Given the description of an element on the screen output the (x, y) to click on. 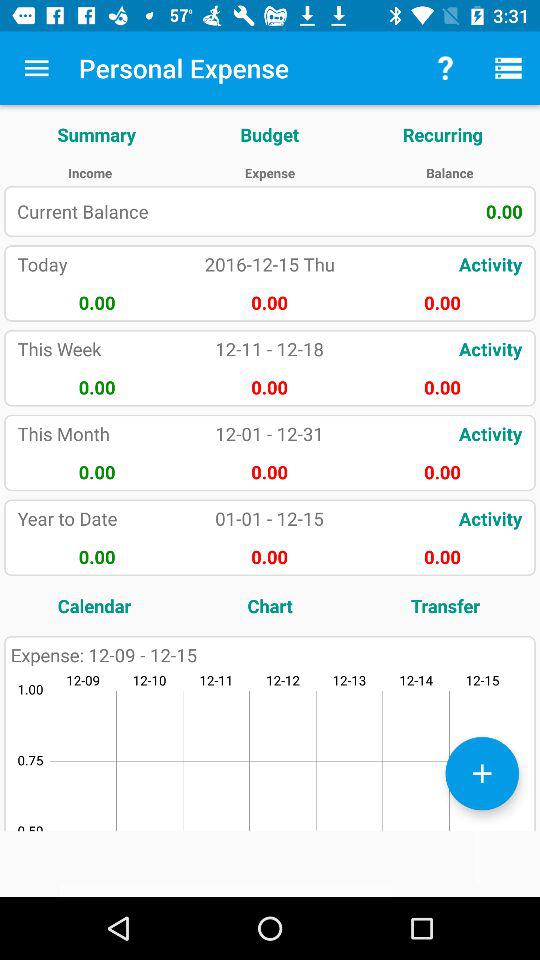
turn off item below the 0.00 icon (445, 605)
